Given the description of an element on the screen output the (x, y) to click on. 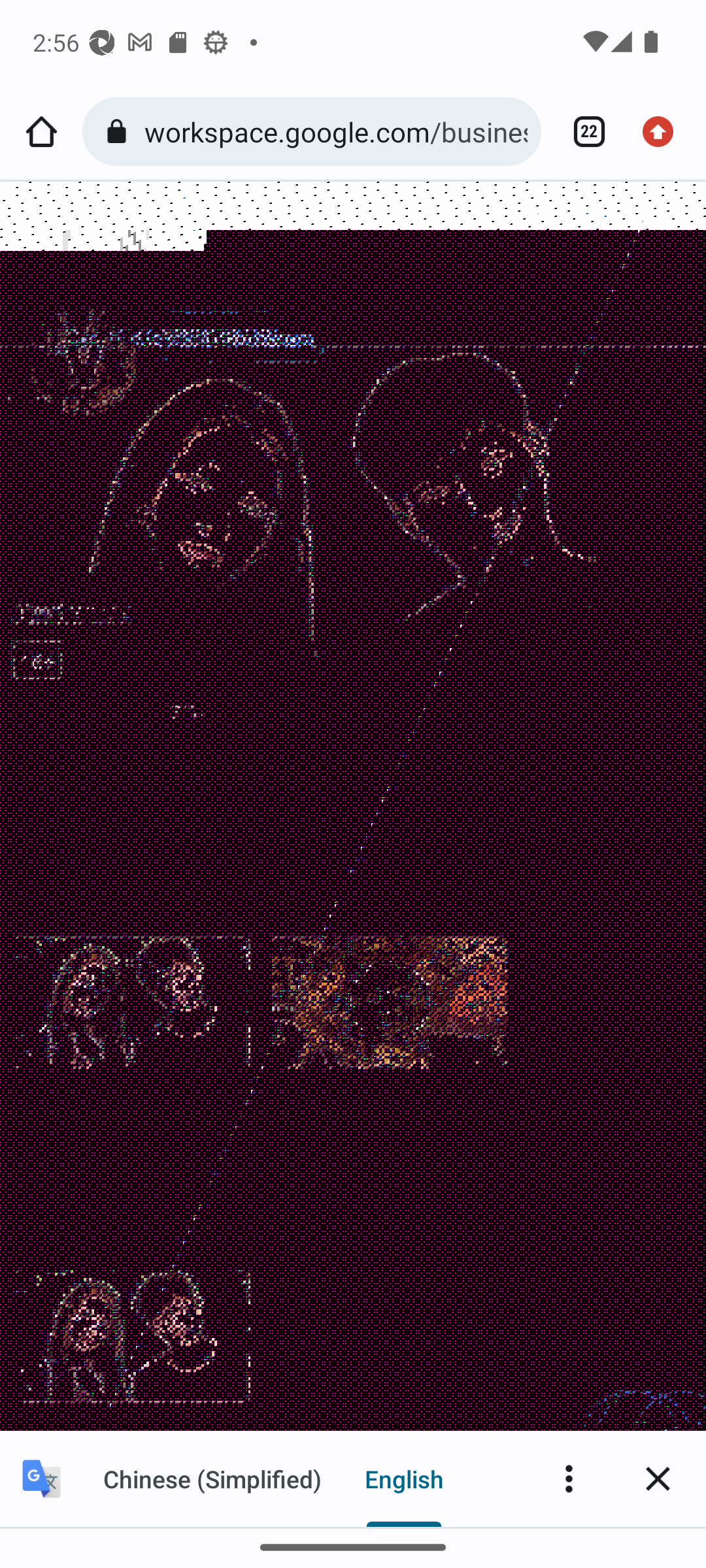
Home (41, 131)
Connection is secure (120, 131)
Switch or close tabs (582, 131)
Update available. More options (664, 131)
Chinese (Simplified) (212, 1478)
More options (568, 1478)
Close (657, 1478)
